Given the description of an element on the screen output the (x, y) to click on. 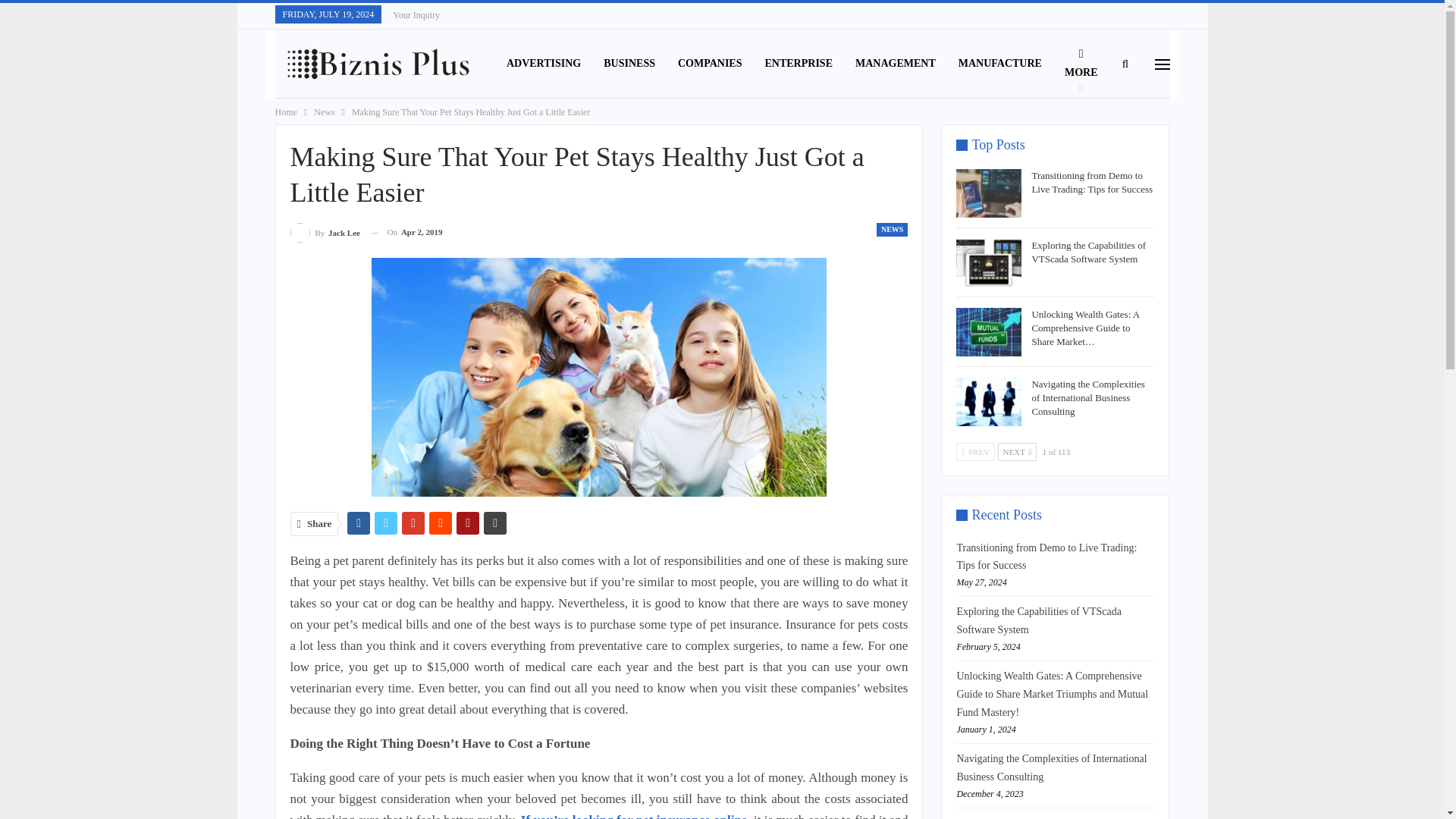
Home (286, 112)
BUSINESS (629, 63)
Your Inquiry (416, 14)
News (324, 112)
MANAGEMENT (895, 63)
MANUFACTURE (999, 63)
ADVERTISING (543, 63)
ENTERPRISE (799, 63)
By Jack Lee (324, 231)
Exploring the Capabilities of VTScada Software System (989, 263)
NEWS (891, 229)
Transitioning from Demo to Live Trading: Tips for Success (989, 192)
Browse Author Articles (324, 231)
COMPANIES (710, 63)
